Given the description of an element on the screen output the (x, y) to click on. 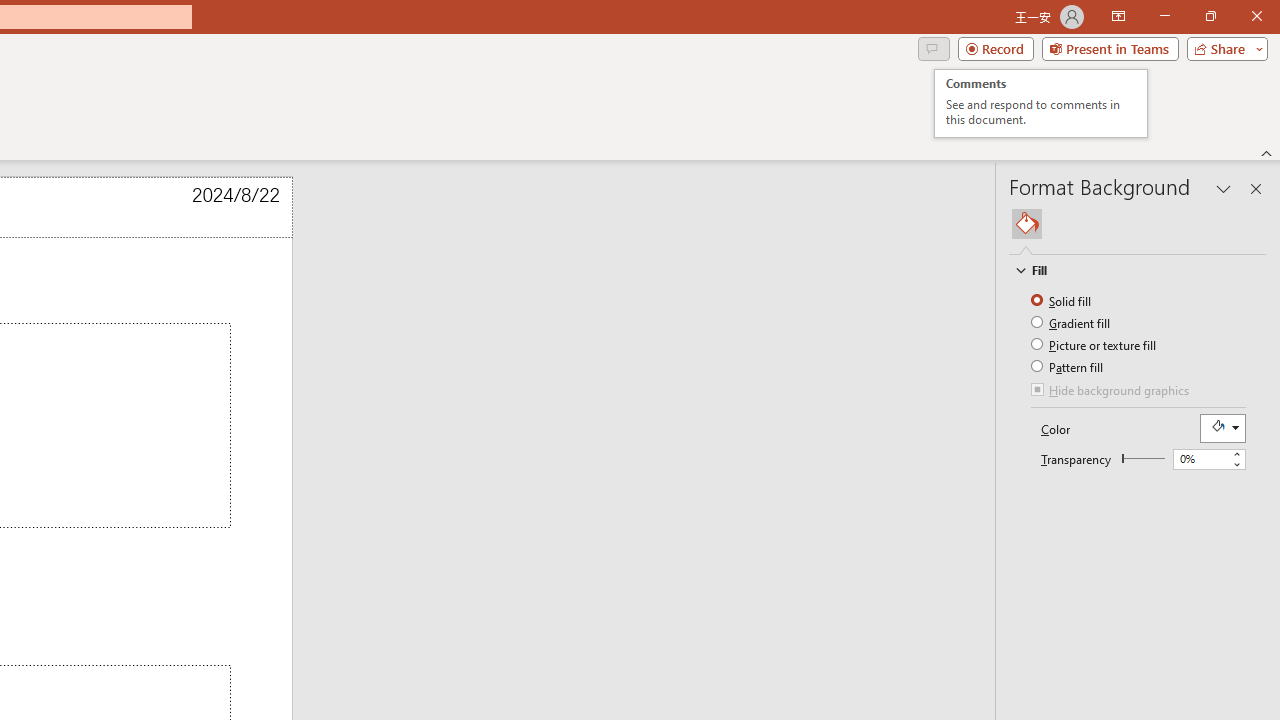
Picture or texture fill (1094, 344)
Pattern fill (1068, 366)
Fill (1128, 269)
Hide background graphics (1111, 391)
Transparency (1208, 459)
Class: NetUIGalleryContainer (1138, 223)
Fill (1027, 223)
